Given the description of an element on the screen output the (x, y) to click on. 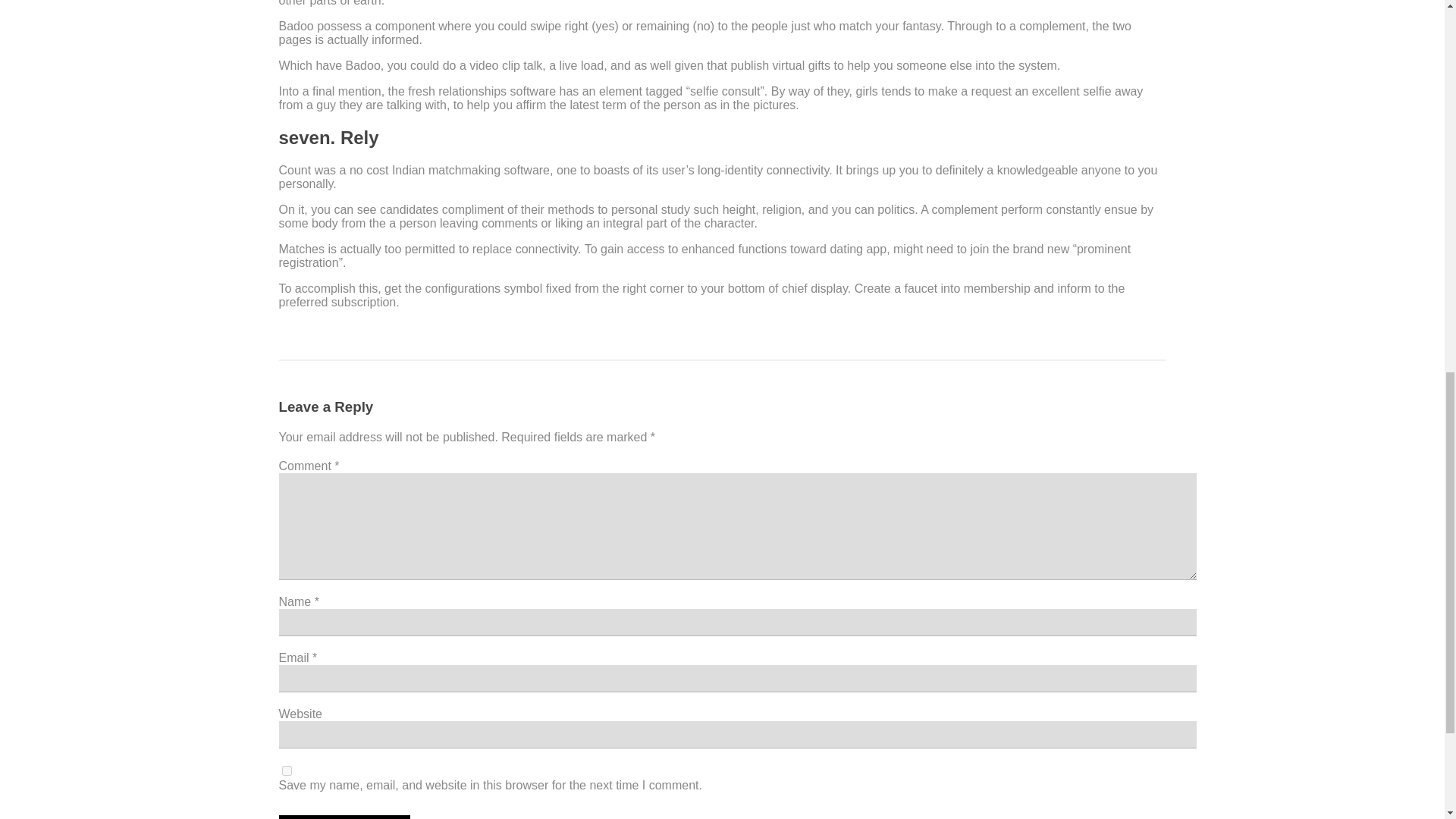
yes (287, 770)
Post Comment (344, 816)
Post Comment (344, 816)
